Given the description of an element on the screen output the (x, y) to click on. 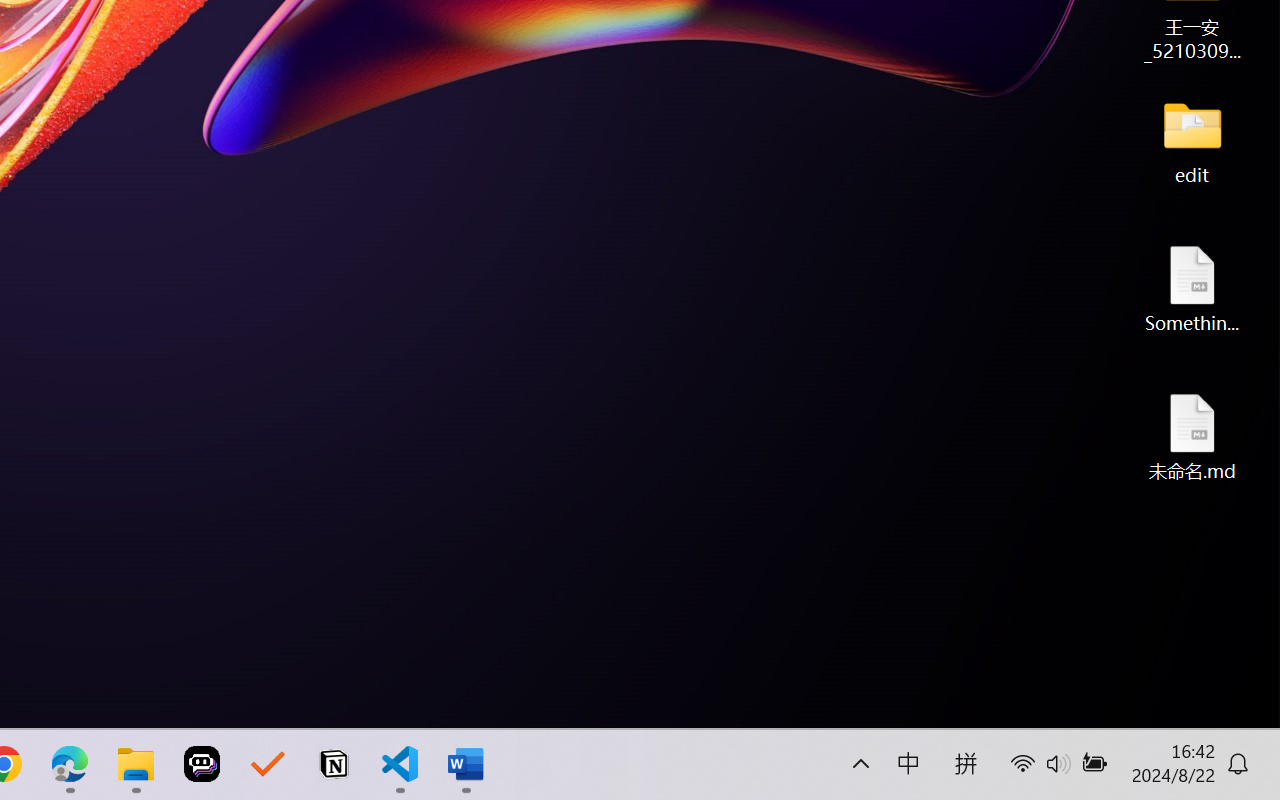
Something.md (1192, 288)
edit (1192, 140)
